Given the description of an element on the screen output the (x, y) to click on. 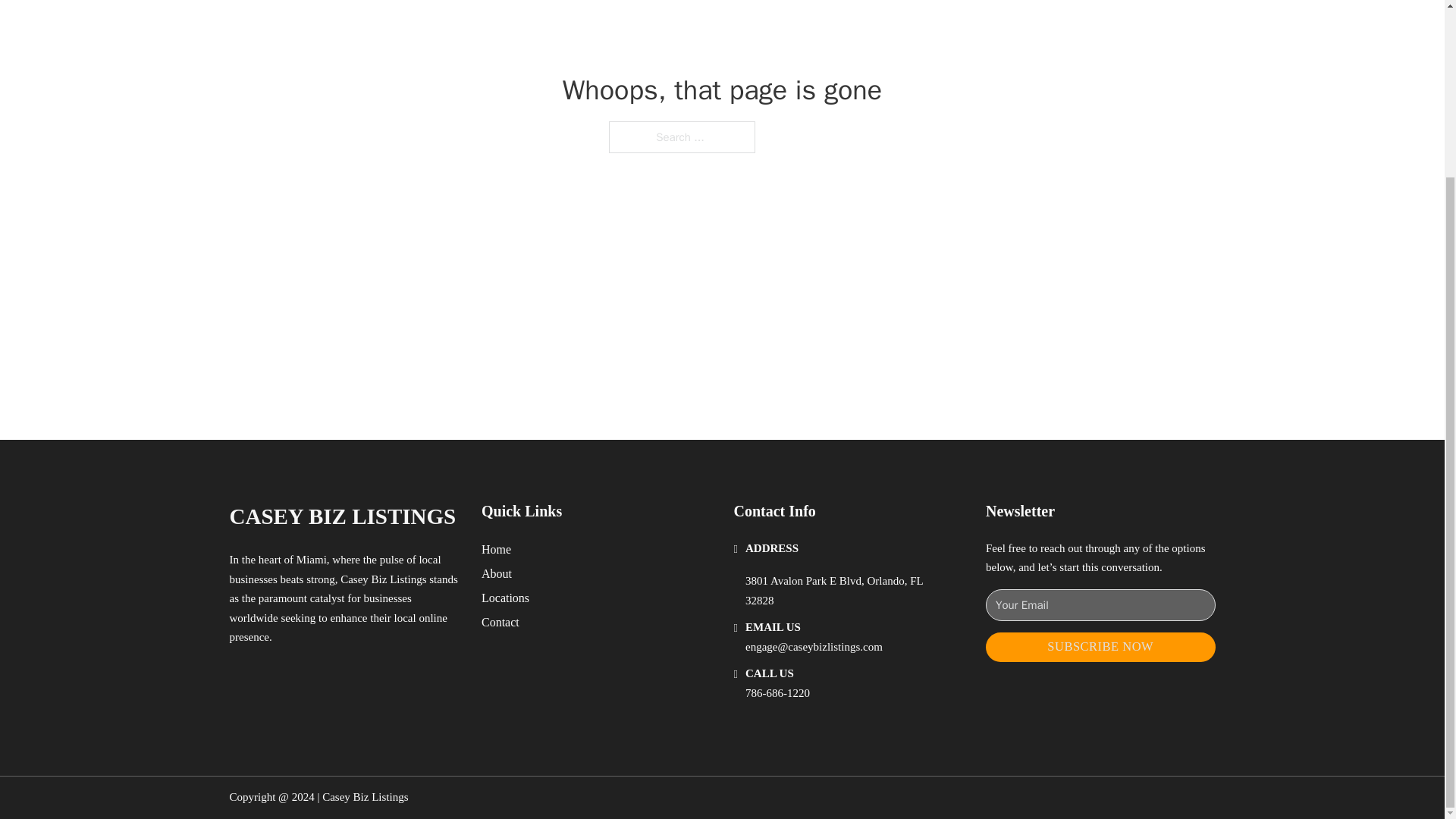
About (496, 573)
Contact (500, 621)
Home (496, 548)
CASEY BIZ LISTINGS (341, 516)
786-686-1220 (777, 693)
SUBSCRIBE NOW (1100, 646)
Locations (505, 598)
